Given the description of an element on the screen output the (x, y) to click on. 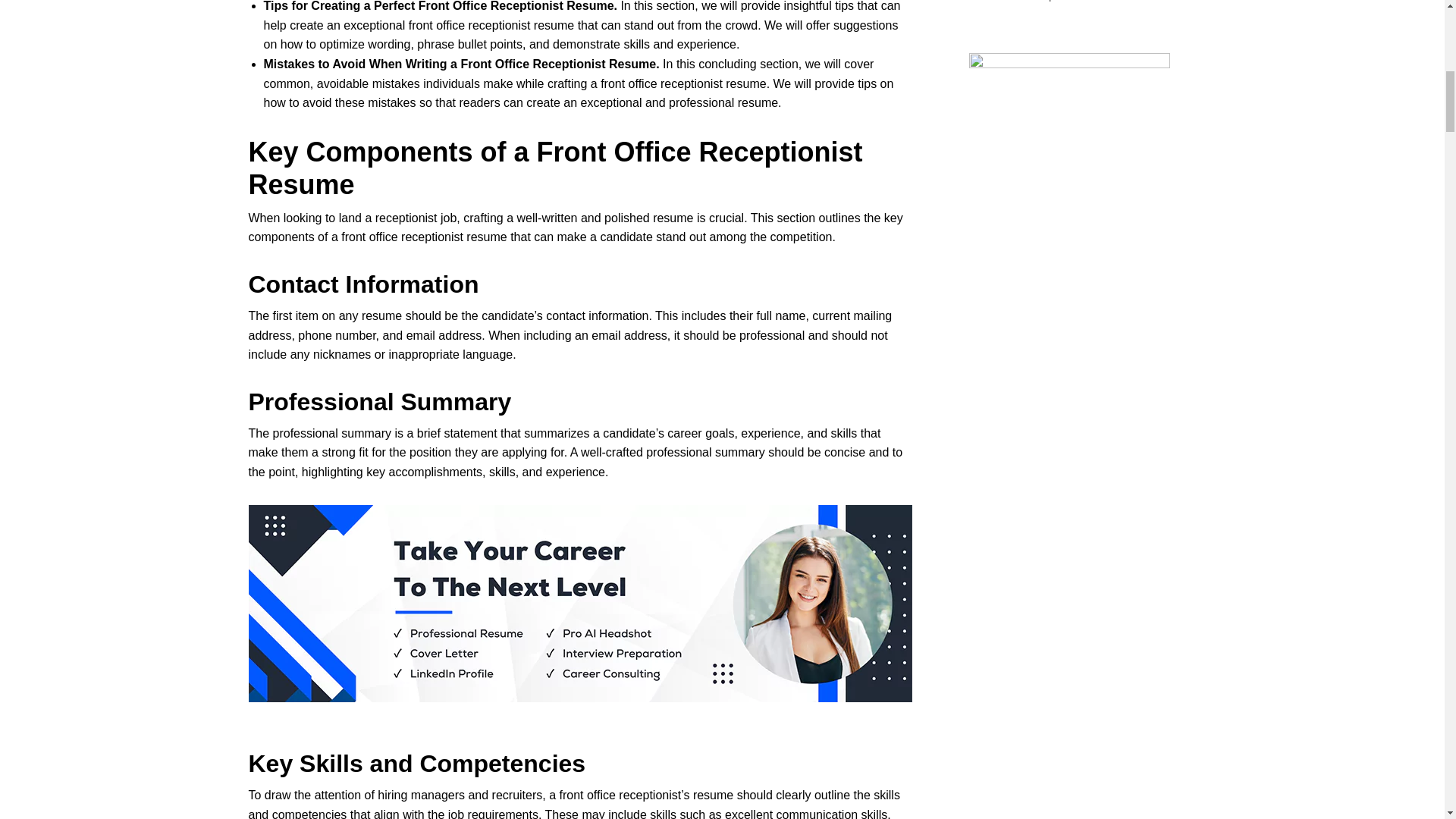
Pharmacist Resume Sample: Best Examples and Writing Tips (1108, 2)
